Given the description of an element on the screen output the (x, y) to click on. 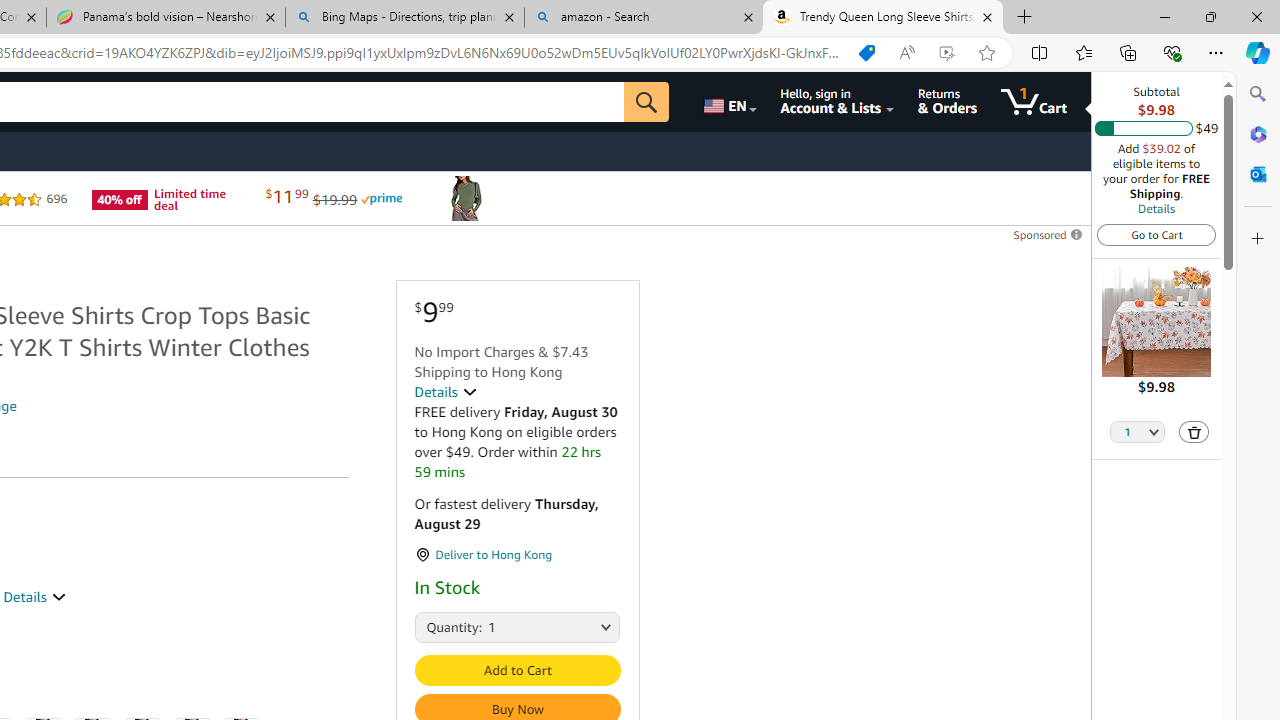
Delete (1193, 431)
You have the best price! (867, 53)
Prime (381, 198)
Details  (445, 391)
amazon - Search (643, 17)
1 item in cart (1034, 101)
Go to Cart (1156, 234)
